Given the description of an element on the screen output the (x, y) to click on. 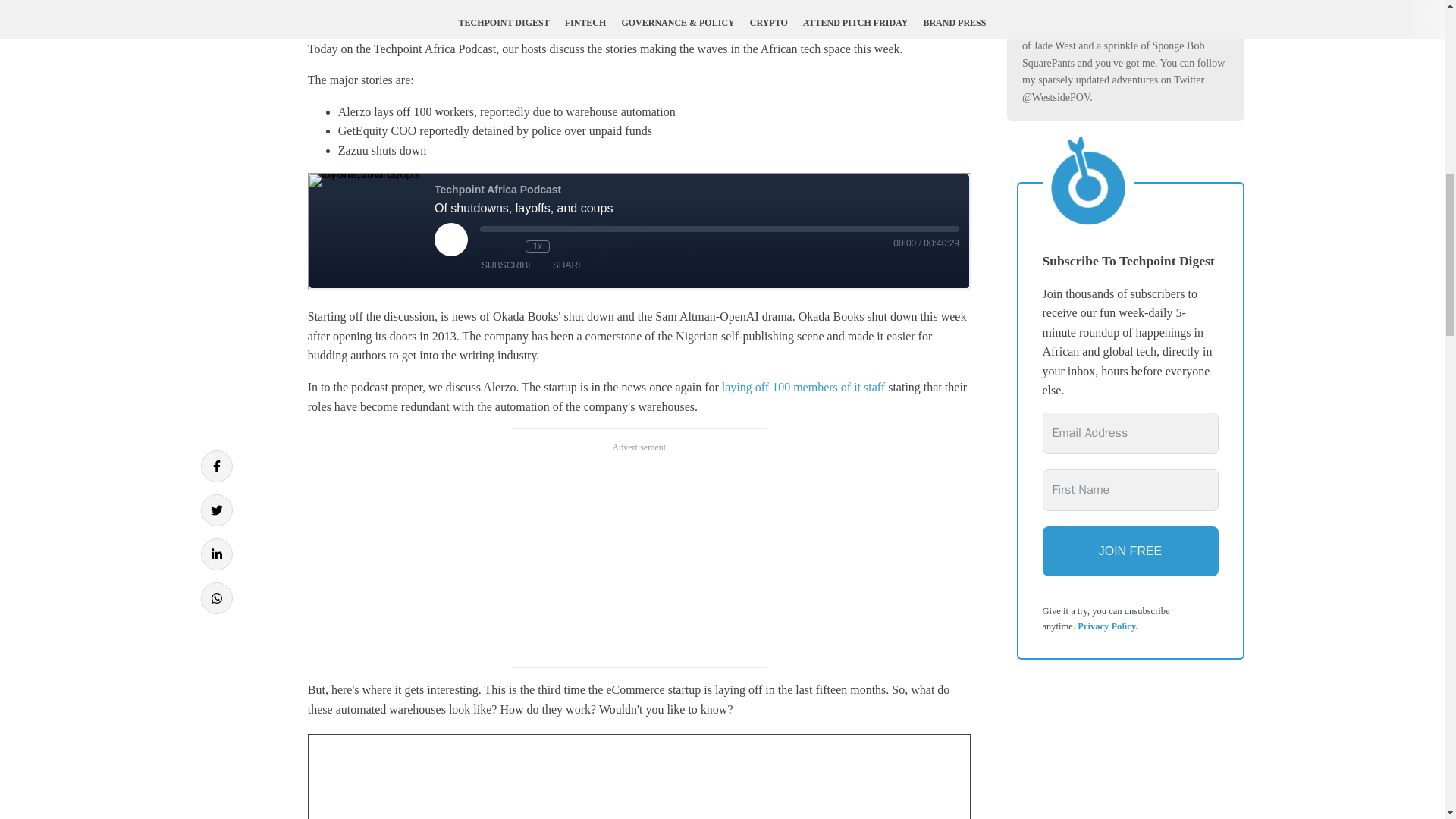
laying off 100 members of it staff (803, 386)
Privacy Policy. (1107, 625)
JOIN FREE (1129, 551)
